Given the description of an element on the screen output the (x, y) to click on. 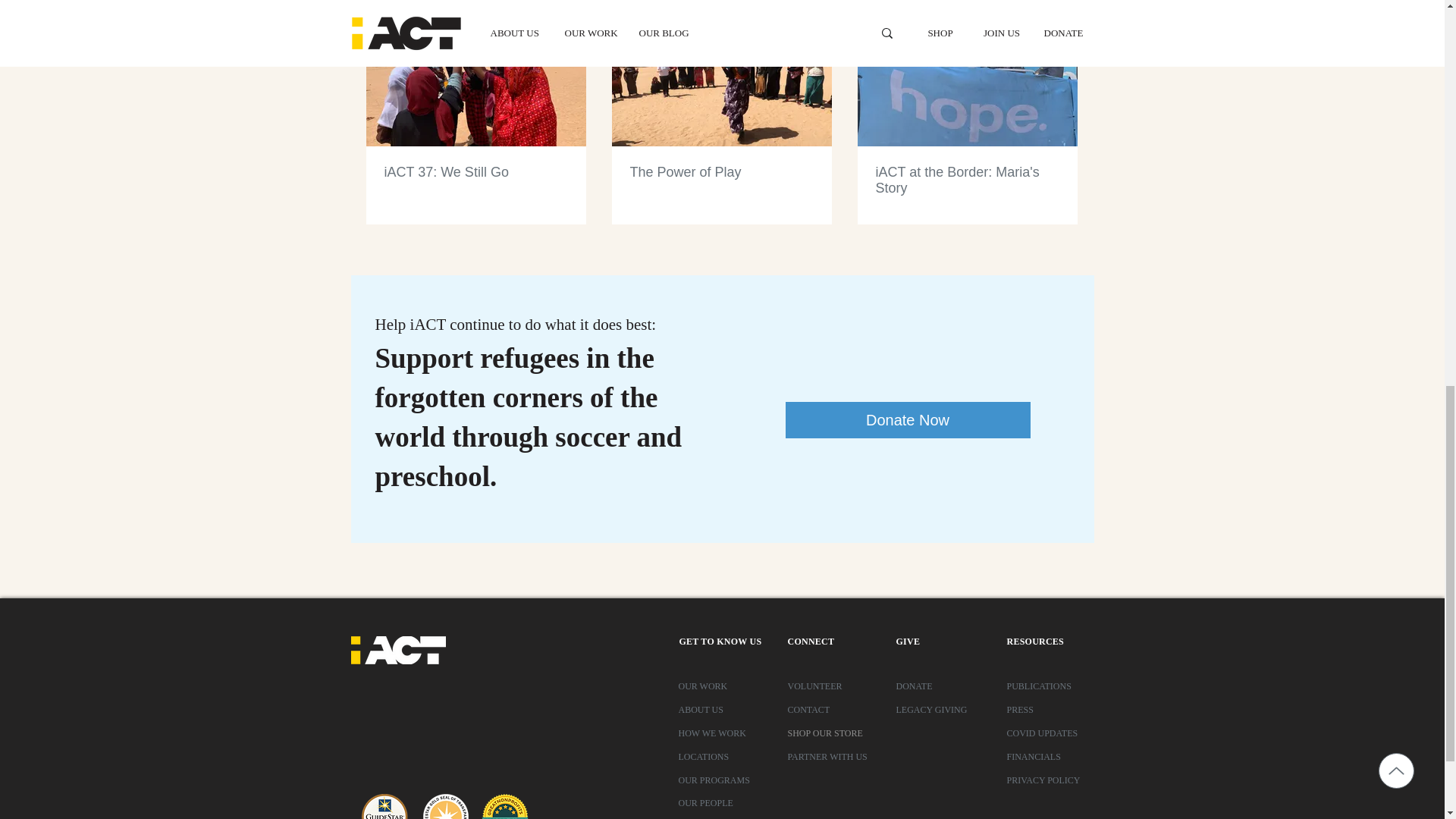
The Power of Play (720, 172)
See All (1061, 3)
iACT 37: We Still Go (475, 172)
